Given the description of an element on the screen output the (x, y) to click on. 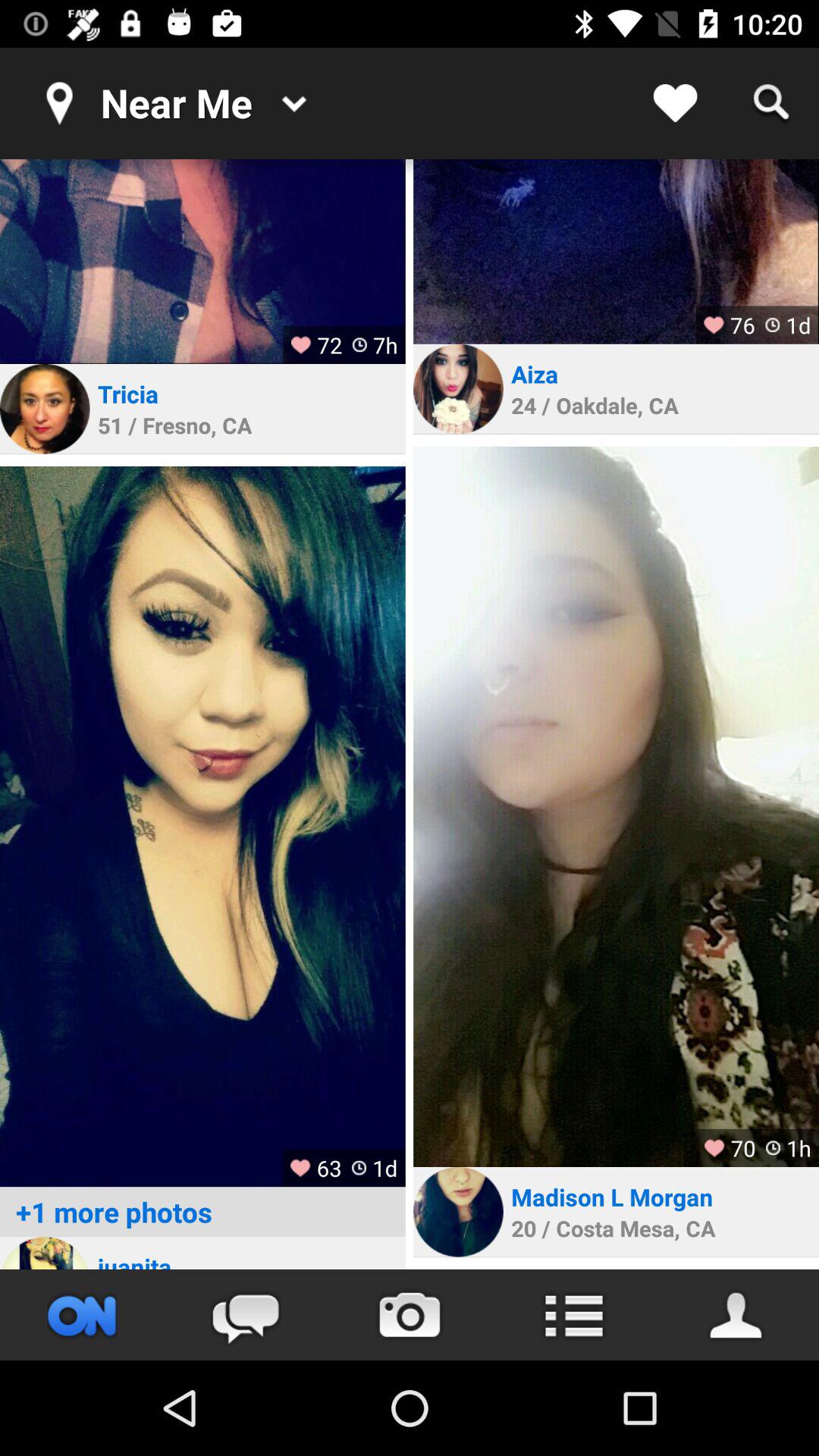
go to photo library (202, 826)
